Given the description of an element on the screen output the (x, y) to click on. 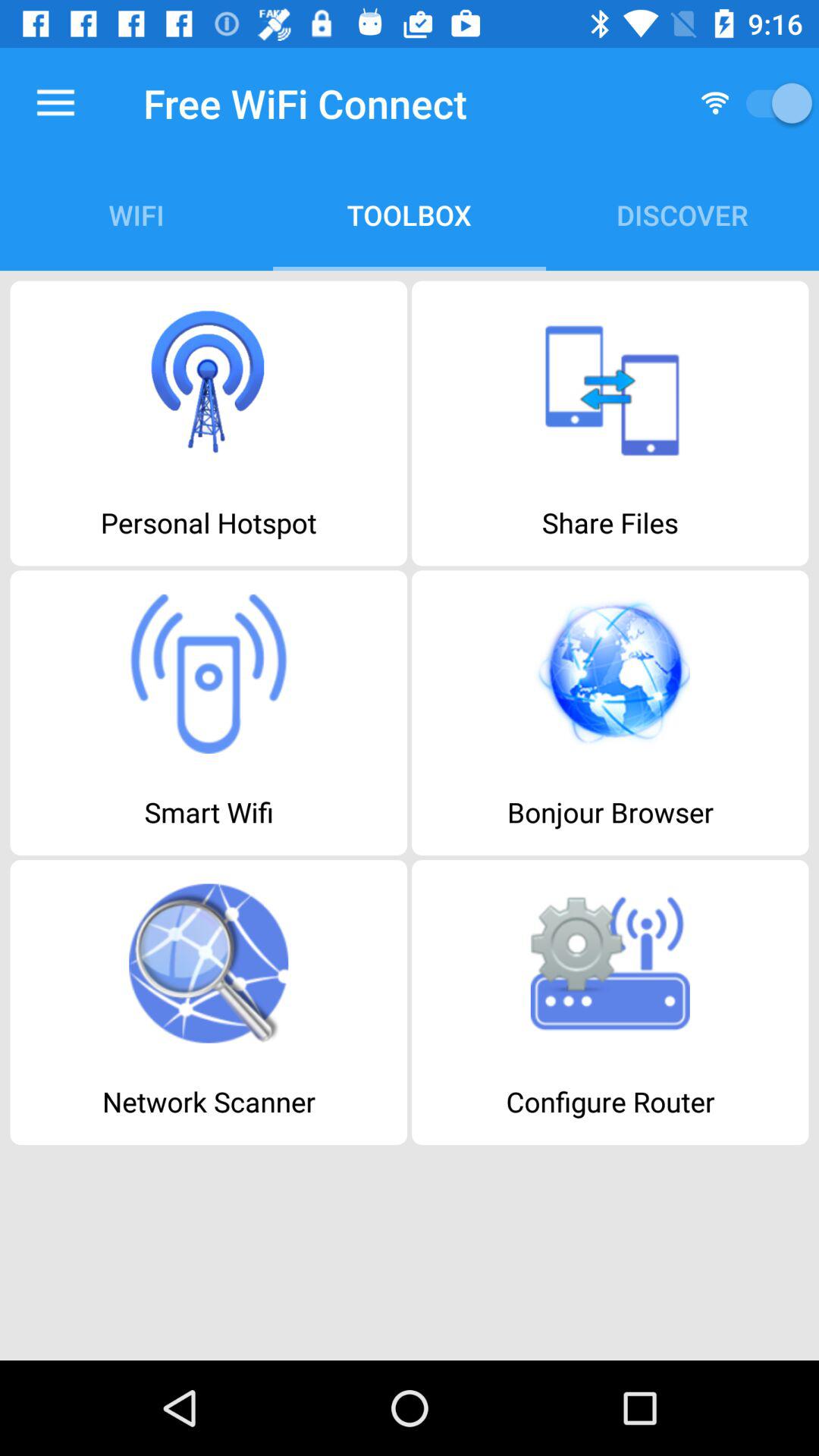
press the item next to free wifi connect icon (55, 103)
